Given the description of an element on the screen output the (x, y) to click on. 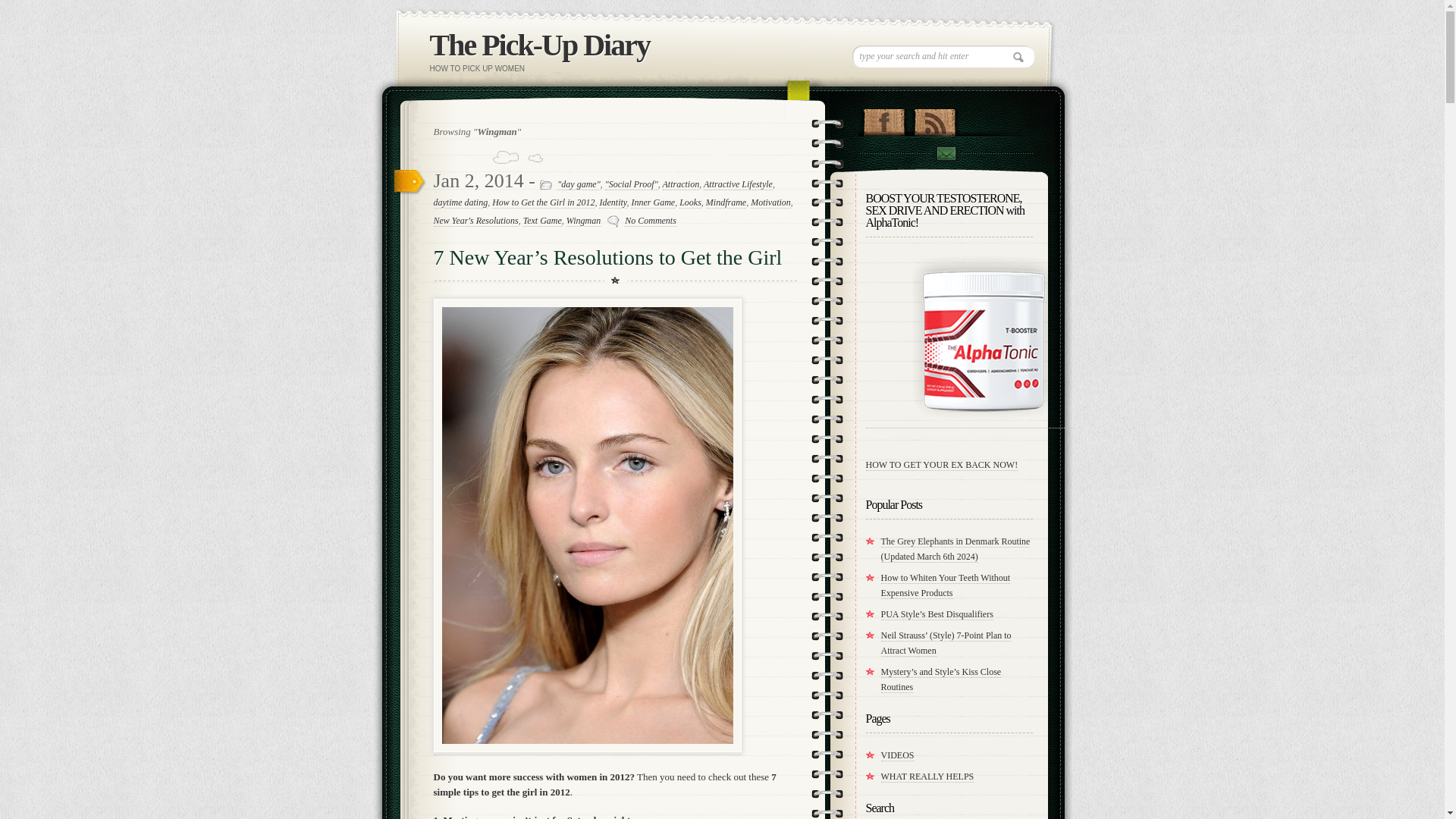
Text Game (542, 220)
"Join Us on Facebook! (883, 118)
New Year's Resolutions (475, 220)
RSS (933, 118)
HOW TO GET YOUR EX BACK NOW! (941, 464)
Identity (612, 202)
"Social Proof" (631, 184)
How to Whiten Your Teeth Without Expensive Products (945, 585)
RSS (933, 118)
Attraction (681, 184)
Contact (945, 153)
Motivation (770, 202)
The Pick-Up Diary (539, 44)
Looks (690, 202)
Attractive Lifestyle (738, 184)
